Given the description of an element on the screen output the (x, y) to click on. 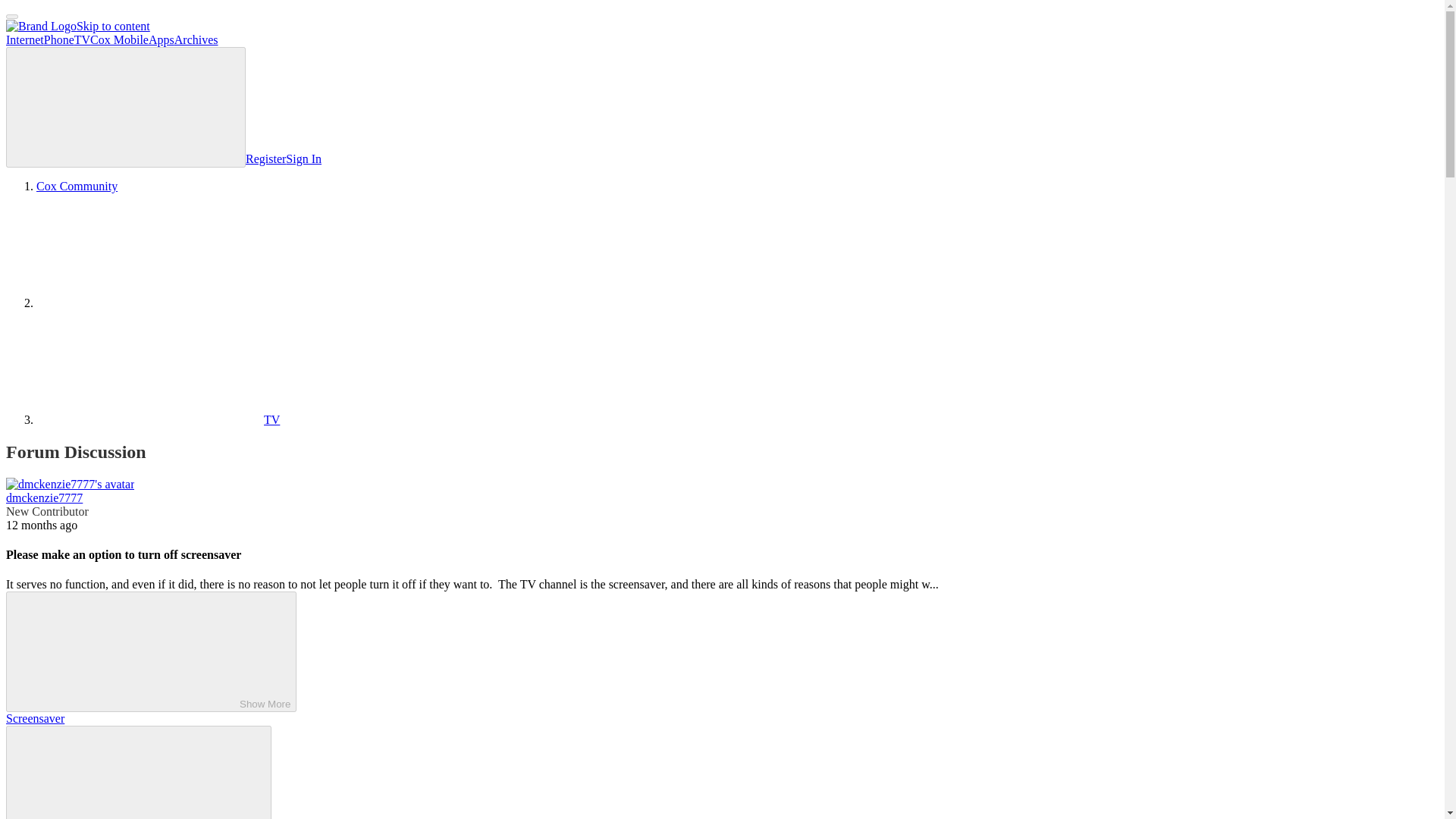
September 14, 2023 at 1:15 AM (41, 524)
TV (157, 419)
Register (265, 158)
dmckenzie7777 (43, 497)
Archives (196, 39)
Cox Community (76, 185)
Sign In (303, 158)
Show More (151, 651)
Skip to content (113, 25)
Apps (161, 39)
